Given the description of an element on the screen output the (x, y) to click on. 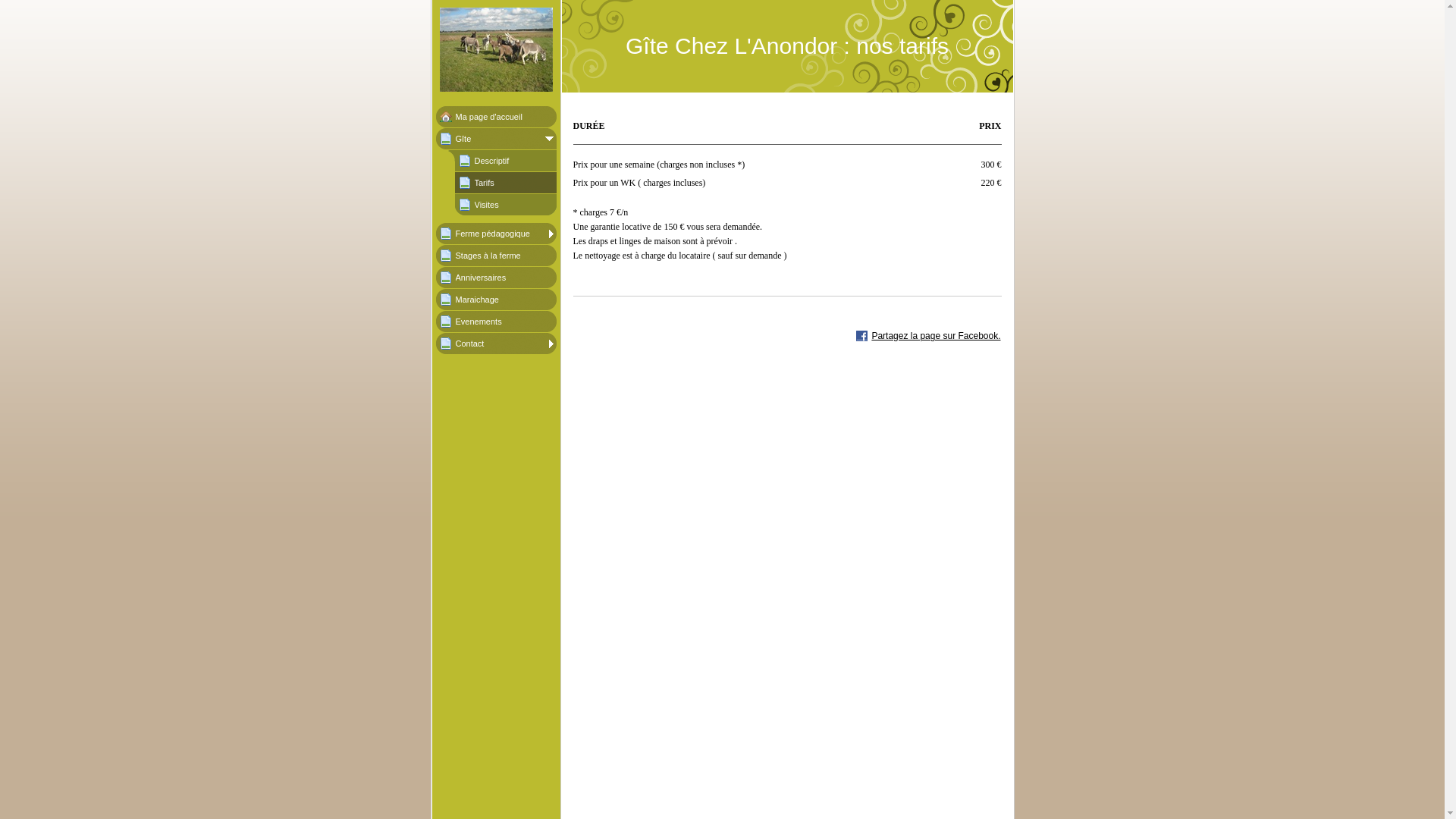
Maraichage Element type: text (495, 299)
Evenements Element type: text (495, 321)
Ma page d'accueil Element type: text (495, 116)
Contact Element type: text (495, 343)
Tarifs Element type: text (505, 182)
Visites Element type: text (505, 204)
Partagez la page sur Facebook. Element type: text (928, 335)
Anniversaires Element type: text (495, 277)
Descriptif Element type: text (505, 160)
